Given the description of an element on the screen output the (x, y) to click on. 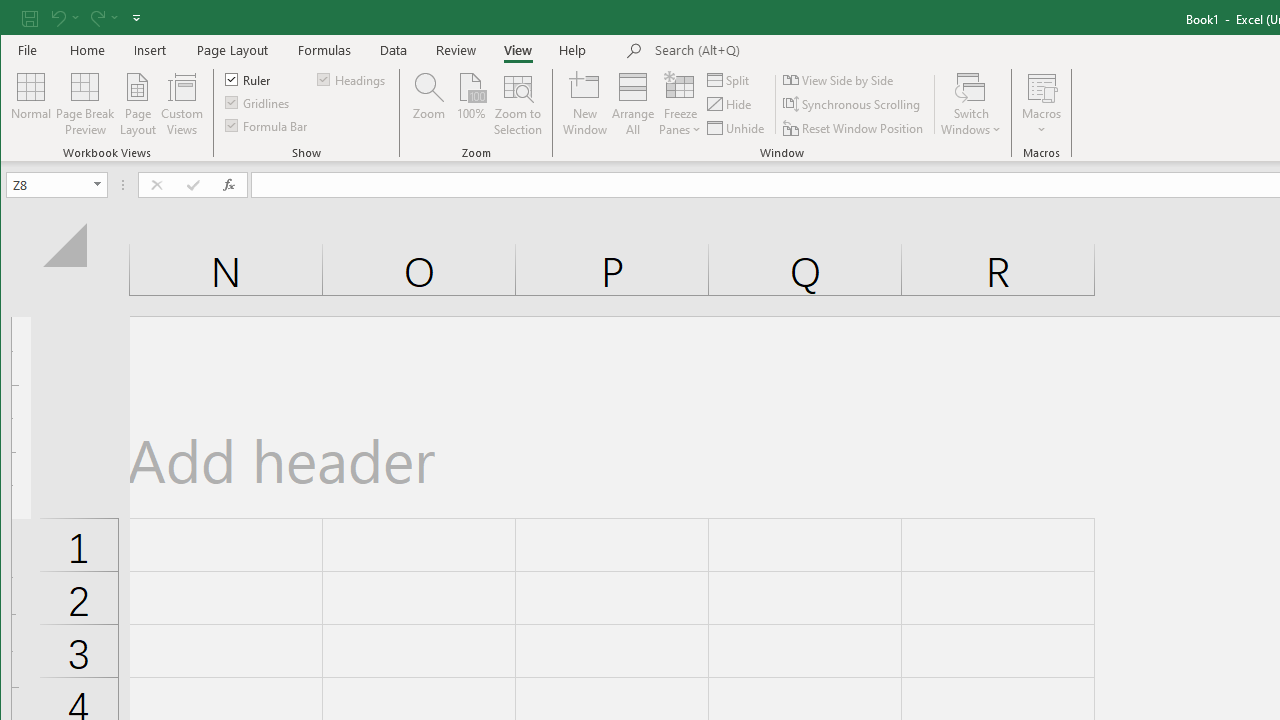
Split (730, 80)
View Side by Side (839, 80)
